Given the description of an element on the screen output the (x, y) to click on. 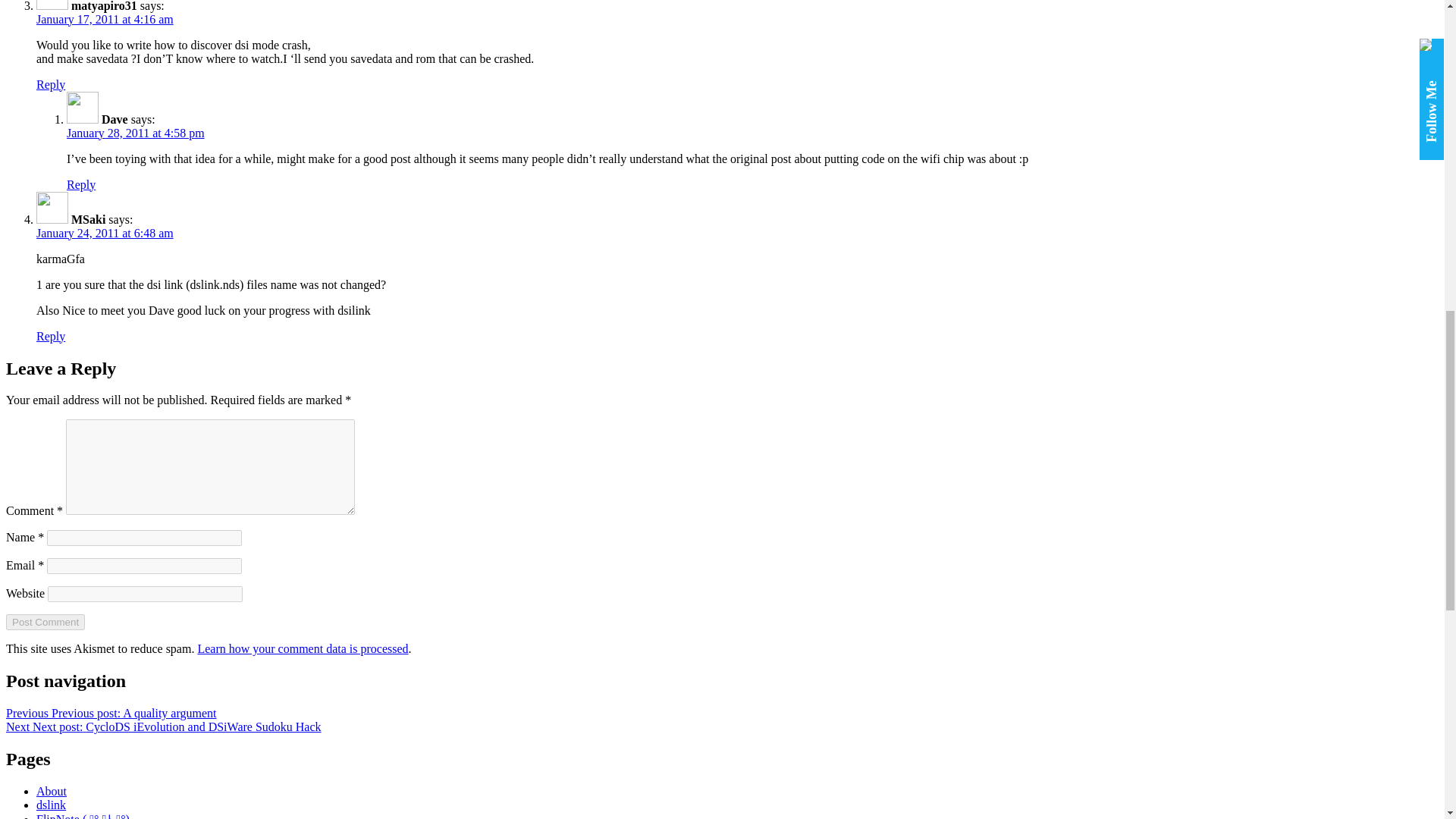
Post Comment (44, 621)
About (51, 790)
Reply (81, 184)
Post Comment (44, 621)
January 17, 2011 at 4:16 am (104, 19)
Reply (50, 83)
Reply (50, 336)
Learn how your comment data is processed (301, 648)
Next Next post: CycloDS iEvolution and DSiWare Sudoku Hack (163, 726)
Previous Previous post: A quality argument (110, 712)
